Given the description of an element on the screen output the (x, y) to click on. 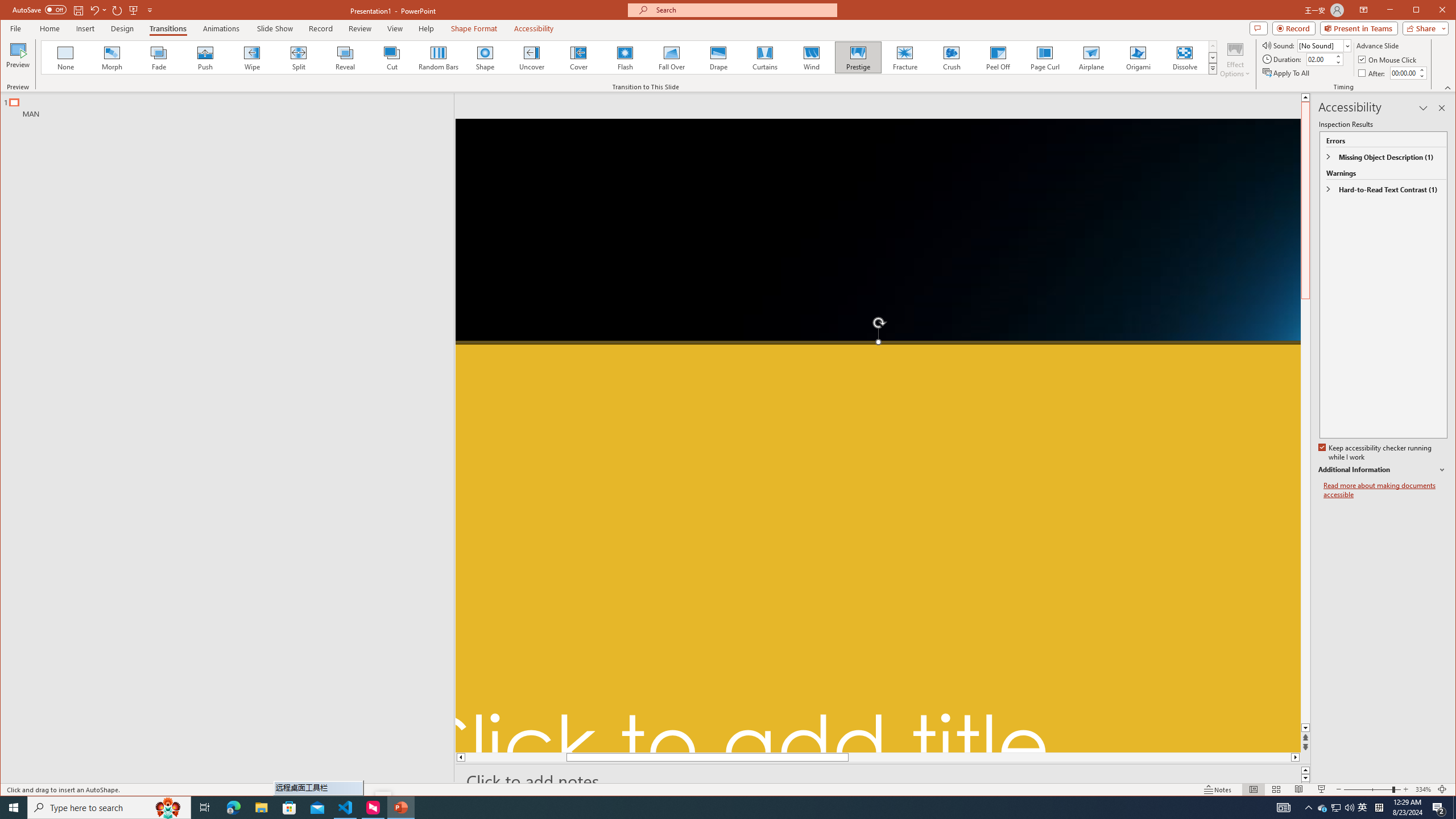
Start (13, 807)
Comments (1258, 28)
Show desktop (1454, 807)
Action Center, 2 new notifications (1439, 807)
Help (426, 28)
File Tab (15, 27)
Dissolve (1184, 57)
Zoom Out (1367, 789)
Tray Input Indicator - Chinese (Simplified, China) (1362, 807)
Ribbon Display Options (1378, 807)
Sound (1364, 9)
Keep accessibility checker running while I work (1324, 45)
